Given the description of an element on the screen output the (x, y) to click on. 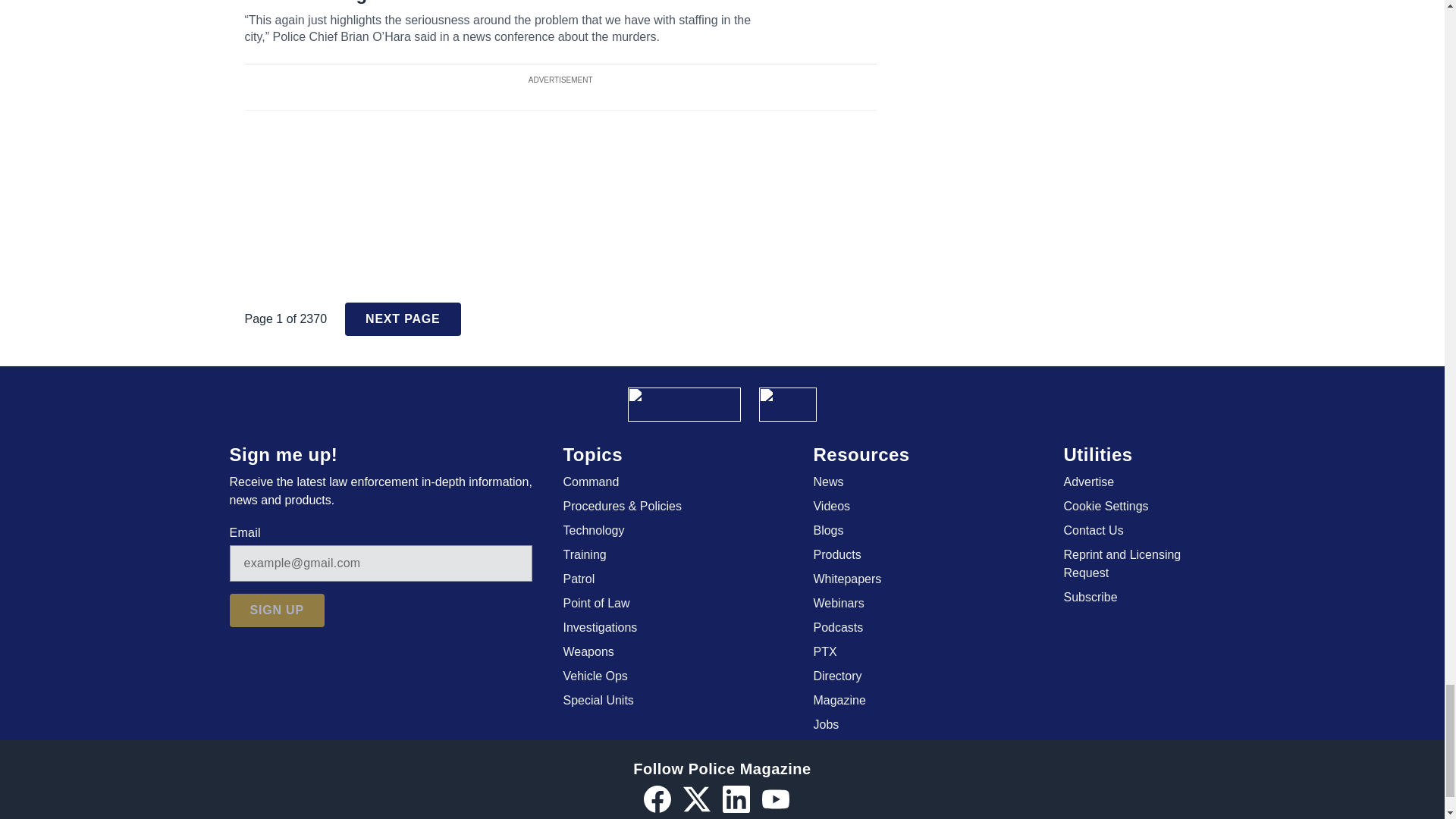
YouTube icon (775, 799)
Facebook icon (656, 799)
LinkedIn icon (735, 799)
Twitter X icon (696, 799)
